Given the description of an element on the screen output the (x, y) to click on. 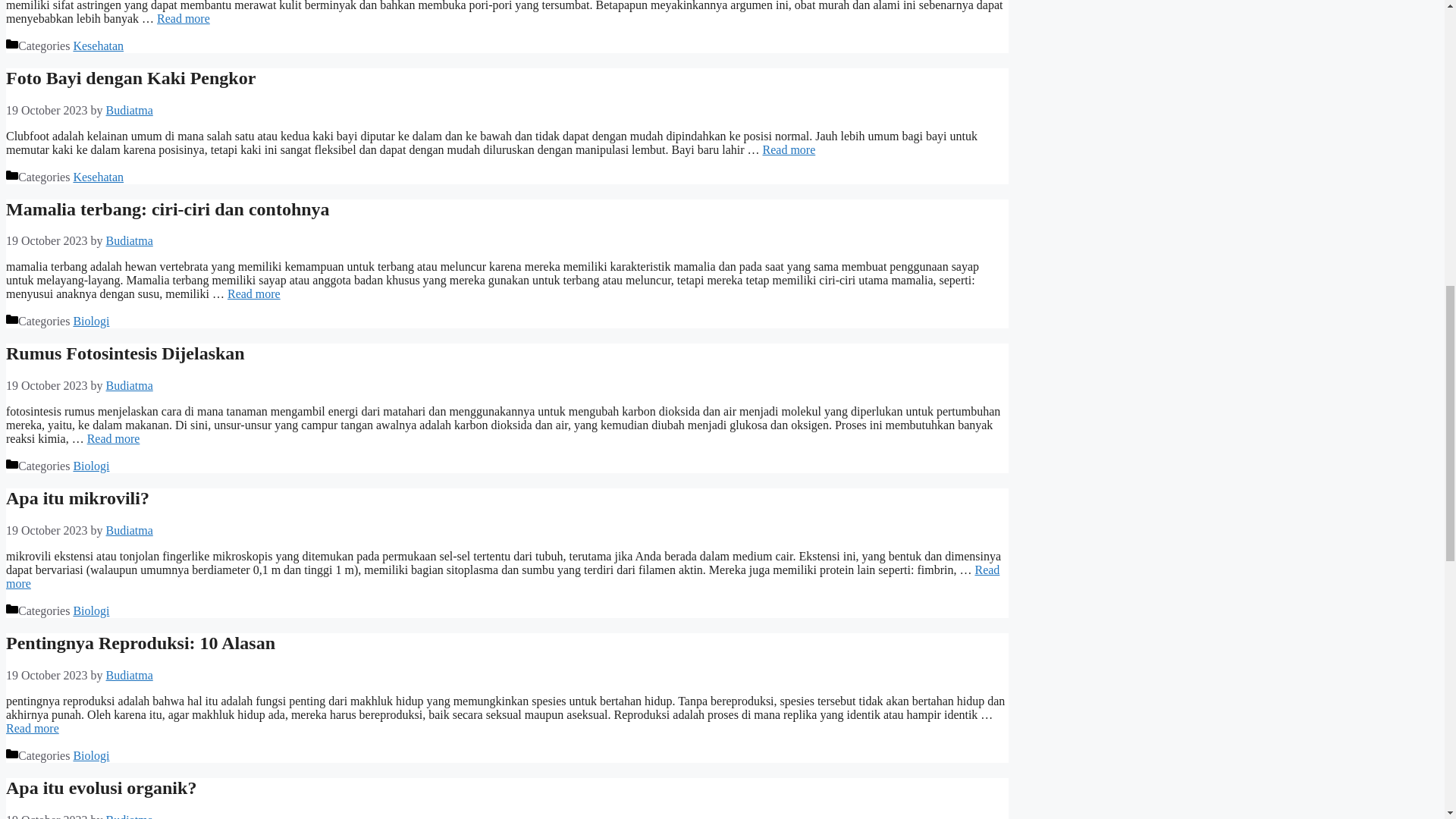
Foto Bayi dengan Kaki Pengkor (788, 149)
View all posts by Budiatma (129, 385)
Mamalia terbang: ciri-ciri dan contohnya (167, 208)
Rumus Fotosintesis Dijelaskan (113, 438)
Mamalia terbang: ciri-ciri dan contohnya (254, 293)
Read more (254, 293)
Budiatma (129, 110)
View all posts by Budiatma (129, 240)
Read more (183, 18)
Cuka Sari Apel untuk Membersihkan Jerawat (183, 18)
View all posts by Budiatma (129, 110)
Foto Bayi dengan Kaki Pengkor (130, 77)
Apa itu mikrovili? (501, 576)
Read more (788, 149)
Kesehatan (97, 176)
